Given the description of an element on the screen output the (x, y) to click on. 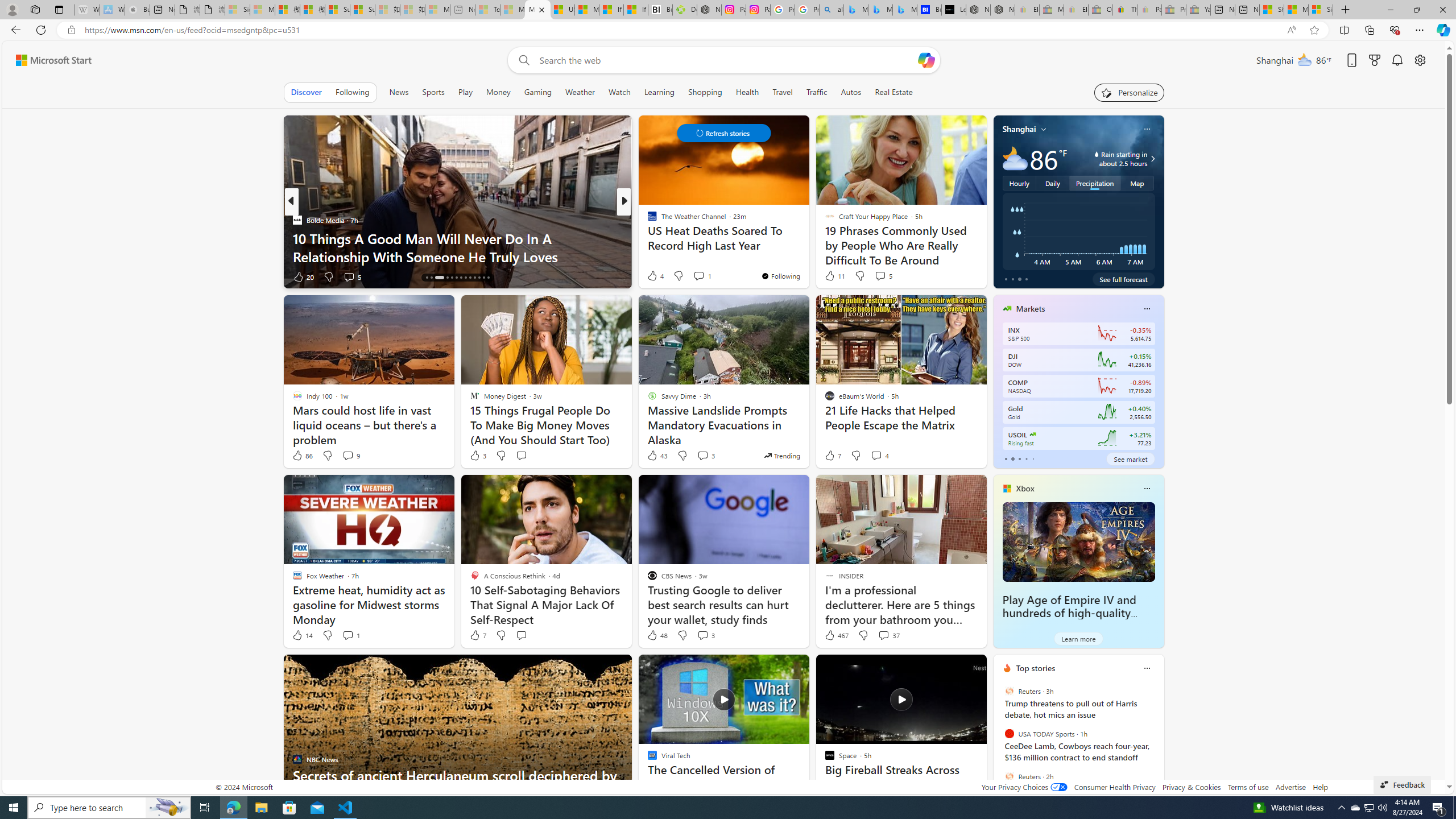
tab-2 (1019, 458)
5k Like (652, 276)
Hide this story (952, 668)
Class: icon-img (1146, 668)
AutomationID: tab-26 (488, 277)
View comments 5 Comment (879, 275)
US Heat Deaths Soared To Record High Last Year (562, 9)
Real Estate (893, 92)
Autos (851, 92)
